Given the description of an element on the screen output the (x, y) to click on. 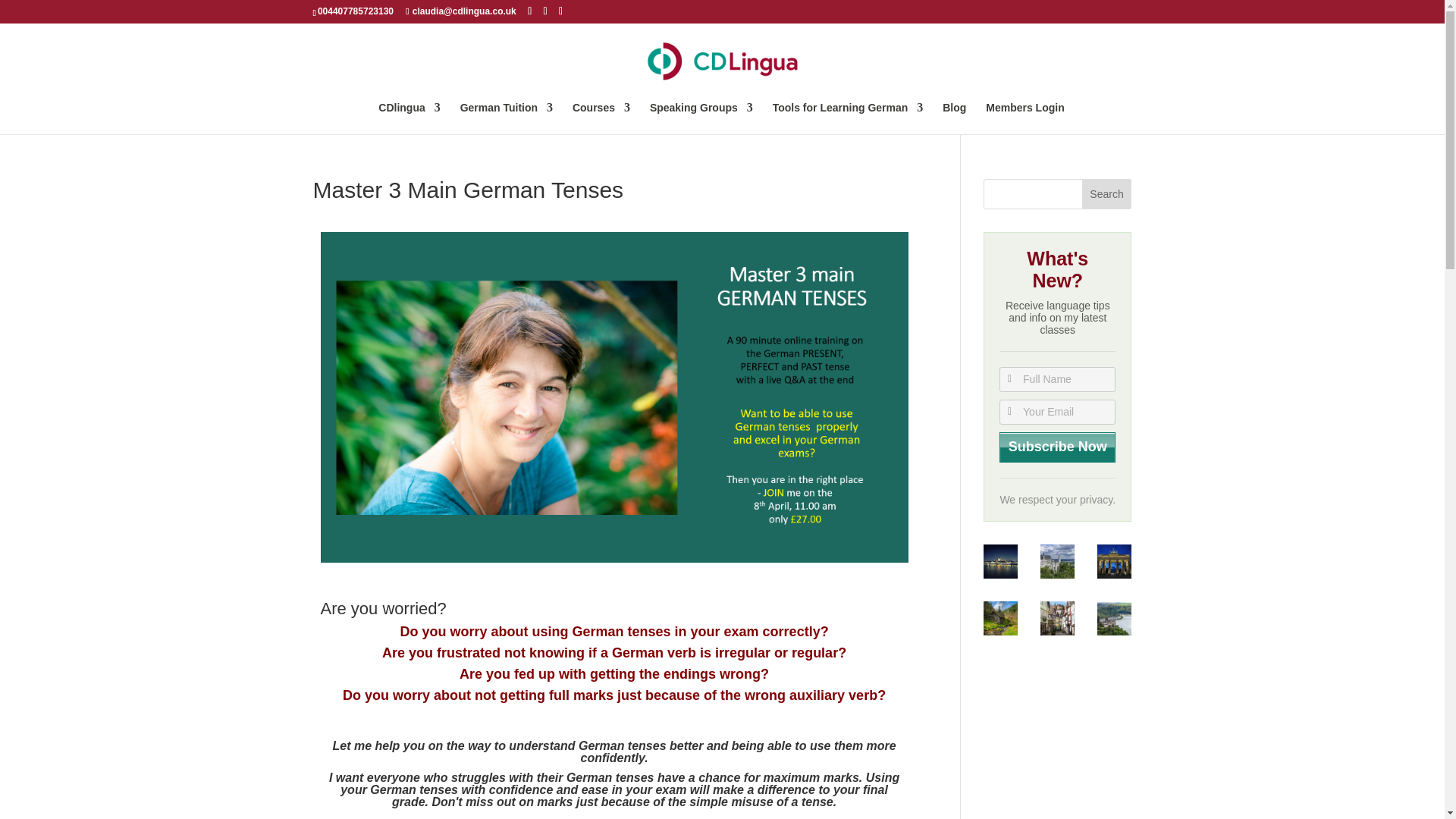
Tools for Learning German (848, 118)
Courses (601, 118)
Schwarzwald - Black Forest (1000, 618)
Speaking Groups (700, 118)
Neuschwanstein (1057, 561)
Search (1106, 194)
CDlingua (408, 118)
Subscribe Now (1056, 447)
Historic German Town (1057, 618)
Mosel (1114, 618)
Brandenburger Tor (1114, 561)
German Tuition (506, 118)
